Given the description of an element on the screen output the (x, y) to click on. 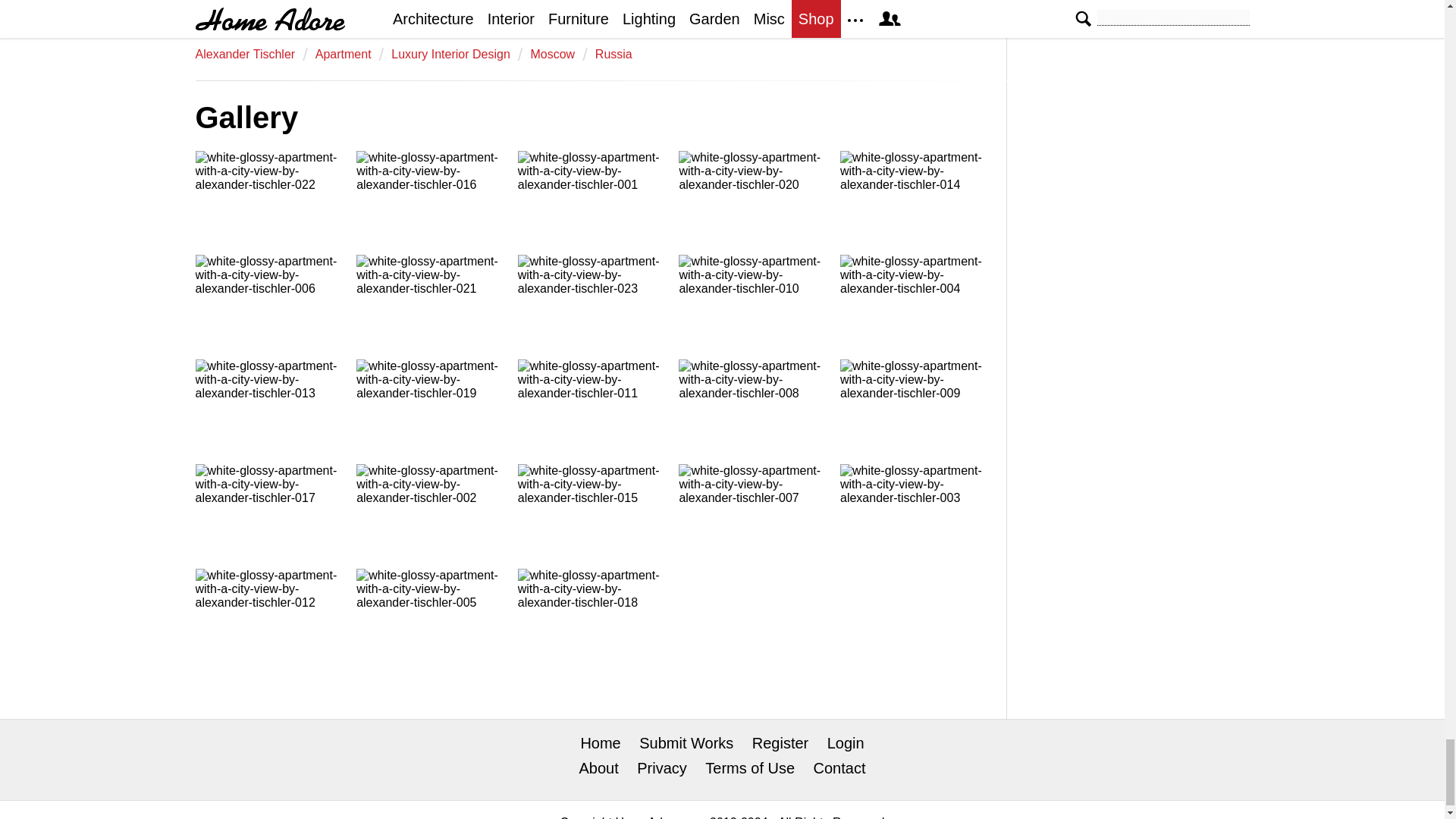
Luxury Interior Design (451, 53)
russia (613, 53)
apartment (343, 53)
Alexander Tischler (245, 53)
moscow (552, 53)
